Given the description of an element on the screen output the (x, y) to click on. 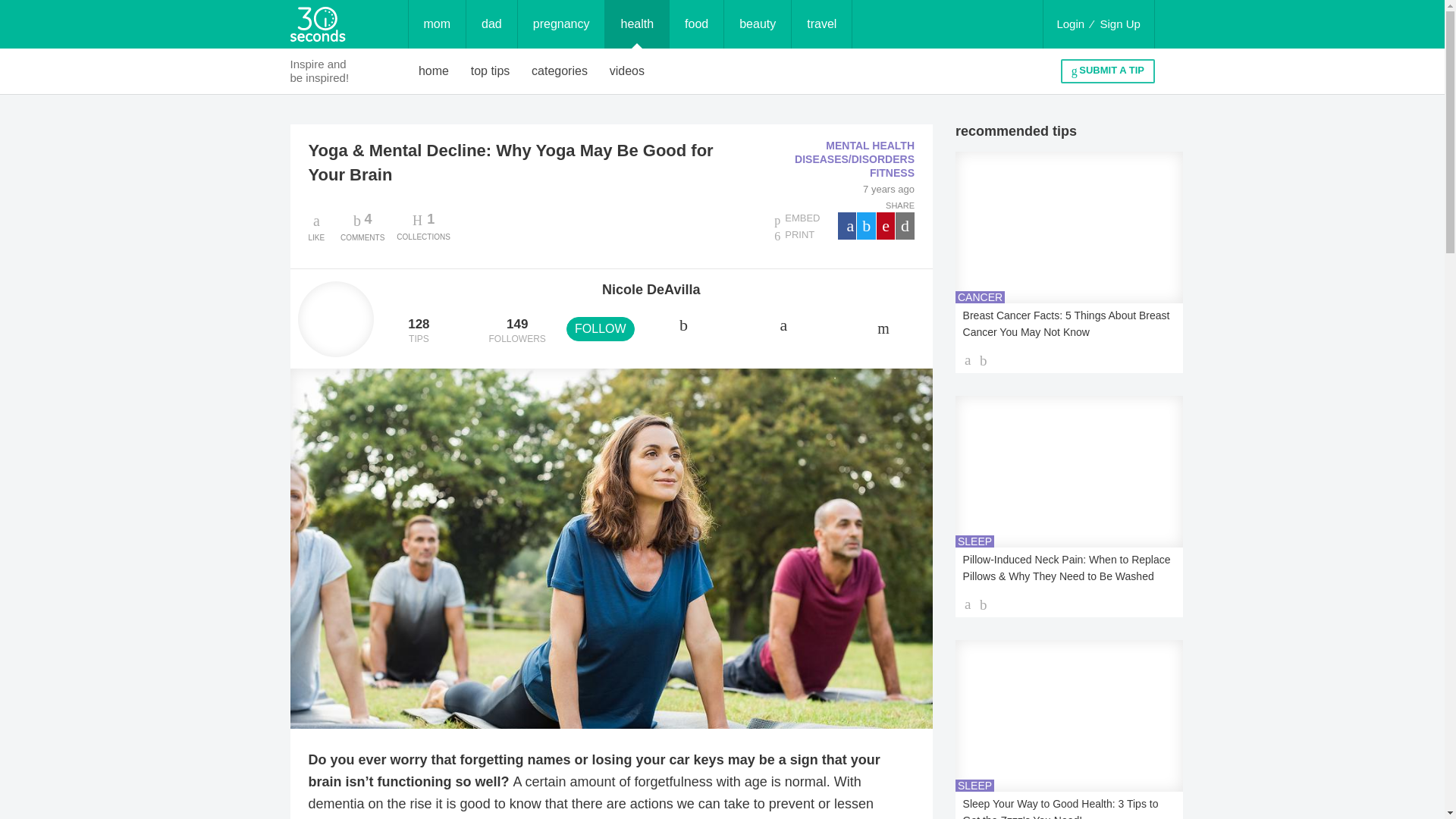
categories (362, 226)
Login (559, 71)
food (1069, 23)
mom (696, 24)
pregnancy (436, 24)
beauty (561, 24)
Sign Up (756, 24)
dad (1120, 23)
health (490, 24)
top tips (636, 24)
travel (489, 71)
home (821, 24)
